Given the description of an element on the screen output the (x, y) to click on. 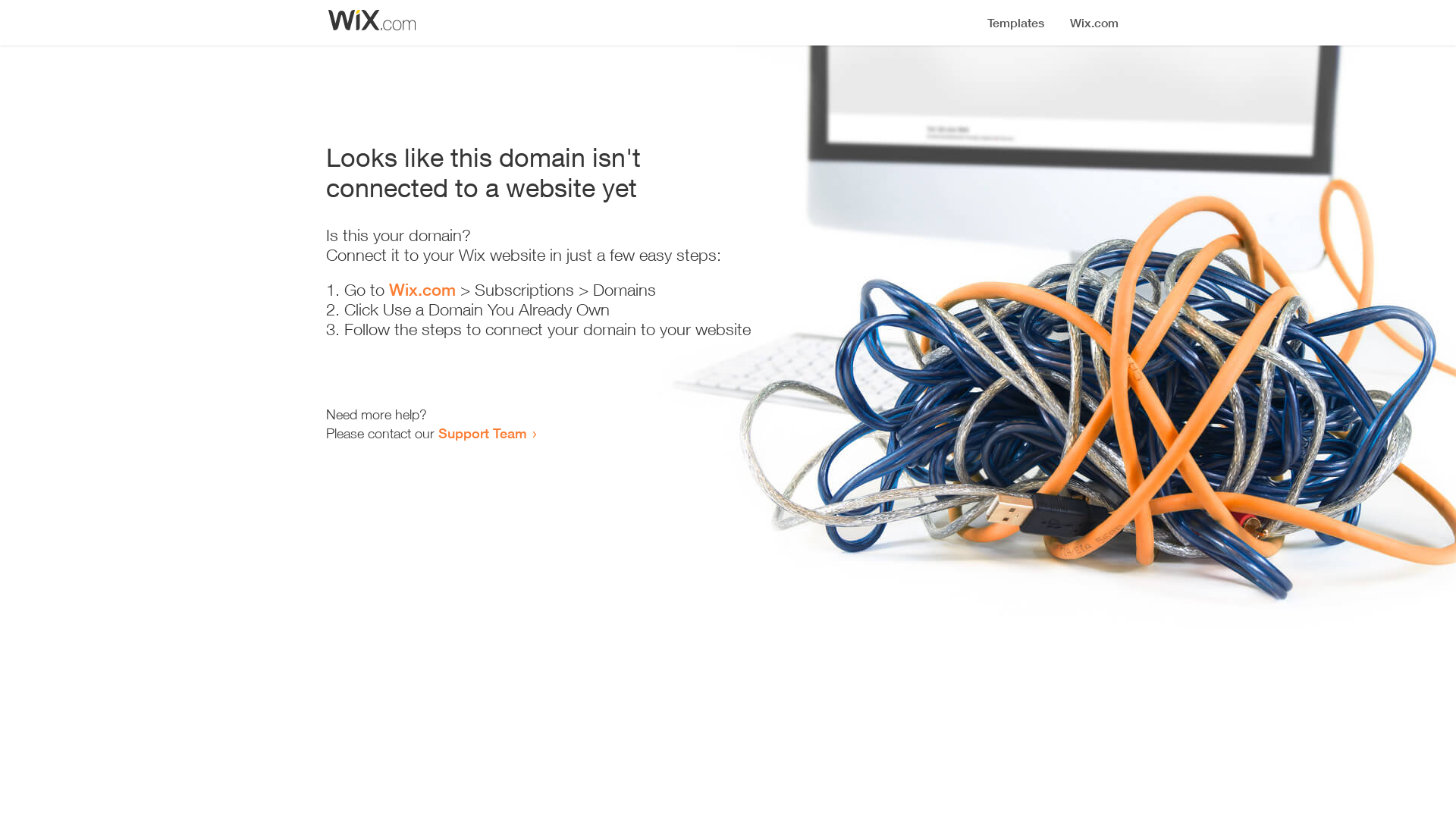
Wix.com Element type: text (422, 289)
Support Team Element type: text (482, 432)
